Given the description of an element on the screen output the (x, y) to click on. 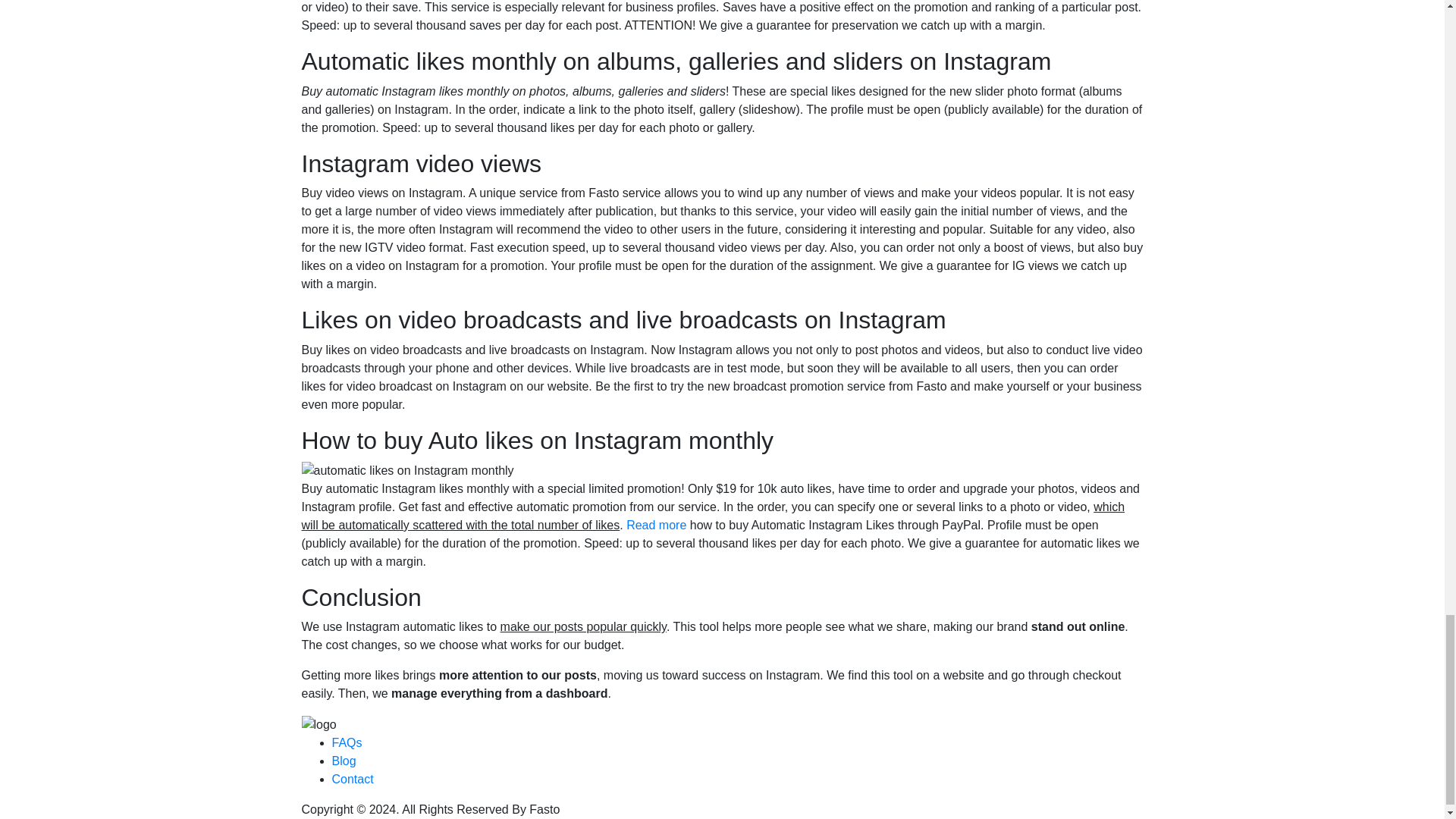
Blog (343, 760)
Read more (655, 524)
FAQs (346, 742)
Contact (352, 779)
